Given the description of an element on the screen output the (x, y) to click on. 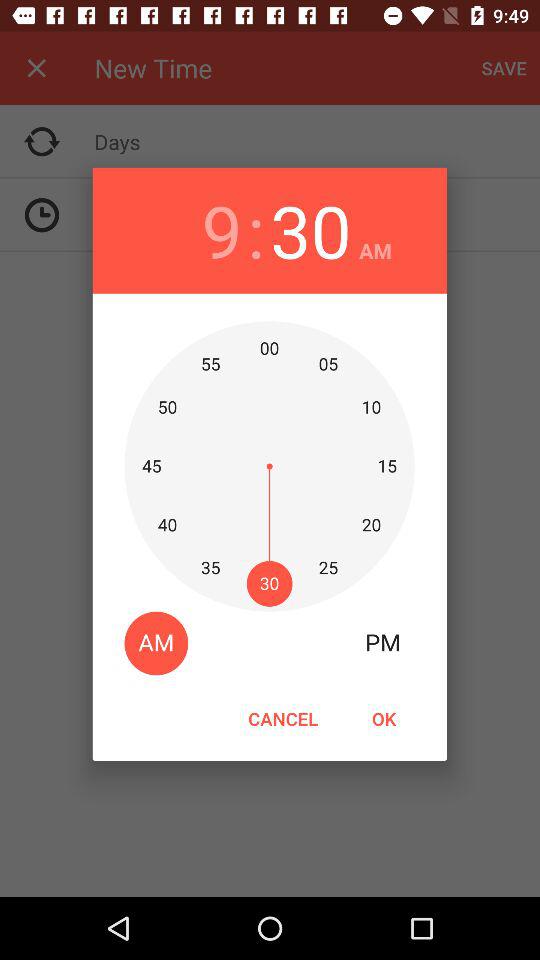
jump until 9 icon (221, 230)
